Given the description of an element on the screen output the (x, y) to click on. 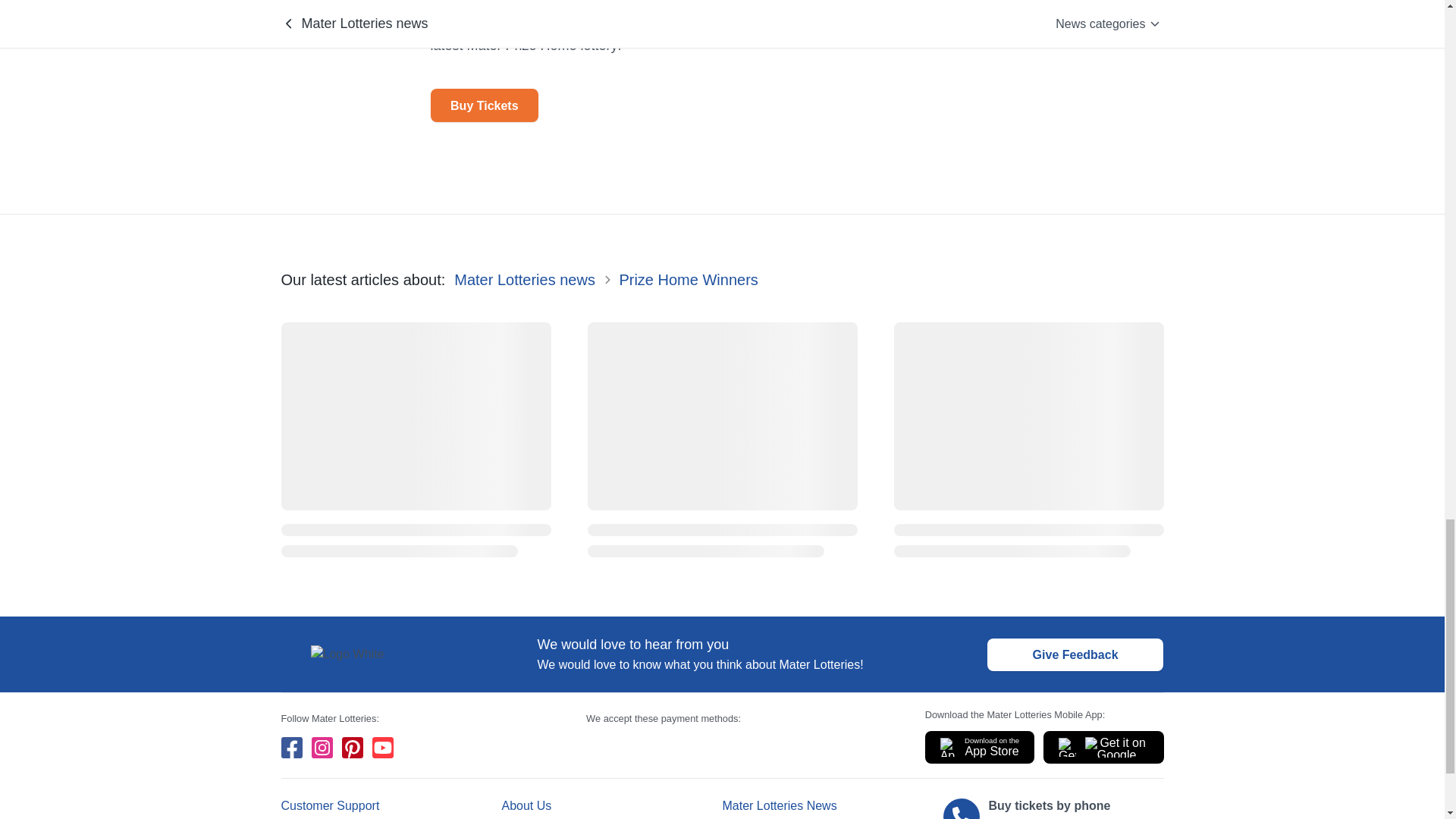
Mater Lotteries news (524, 279)
Buy Tickets (484, 105)
Prize Home Winners (687, 279)
Give Feedback (1075, 654)
